Given the description of an element on the screen output the (x, y) to click on. 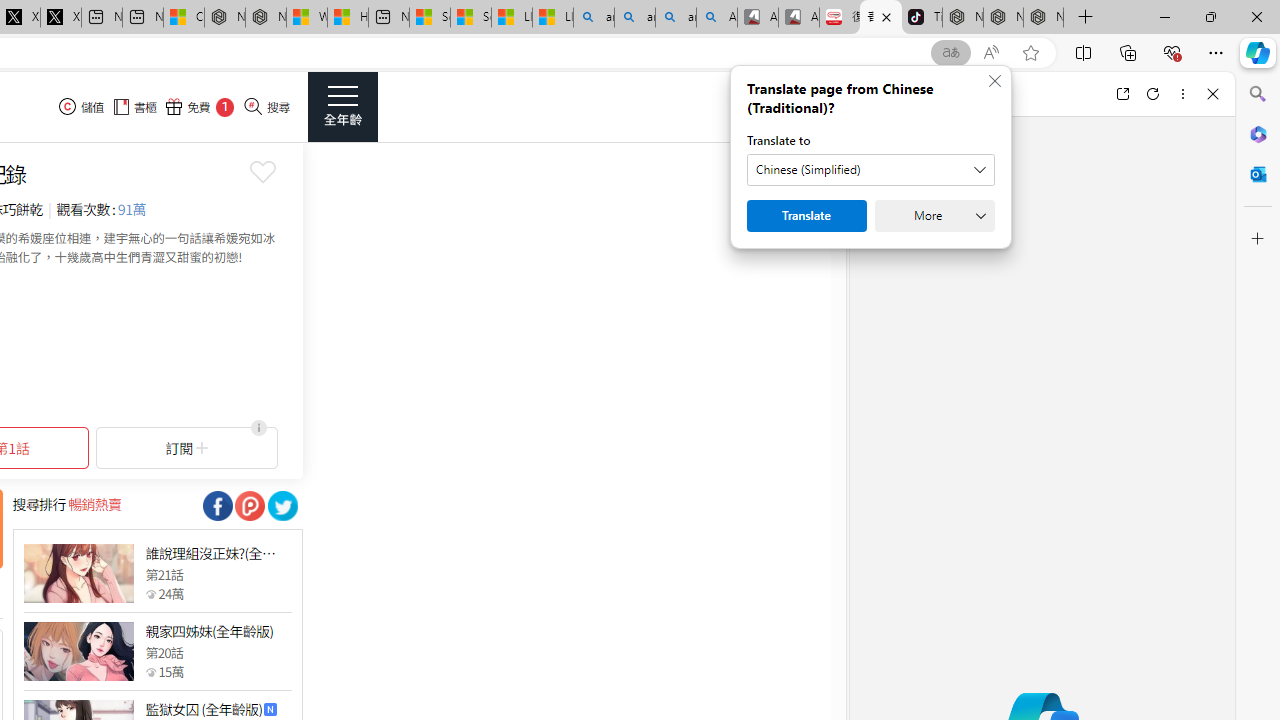
Translate (806, 215)
